Given the description of an element on the screen output the (x, y) to click on. 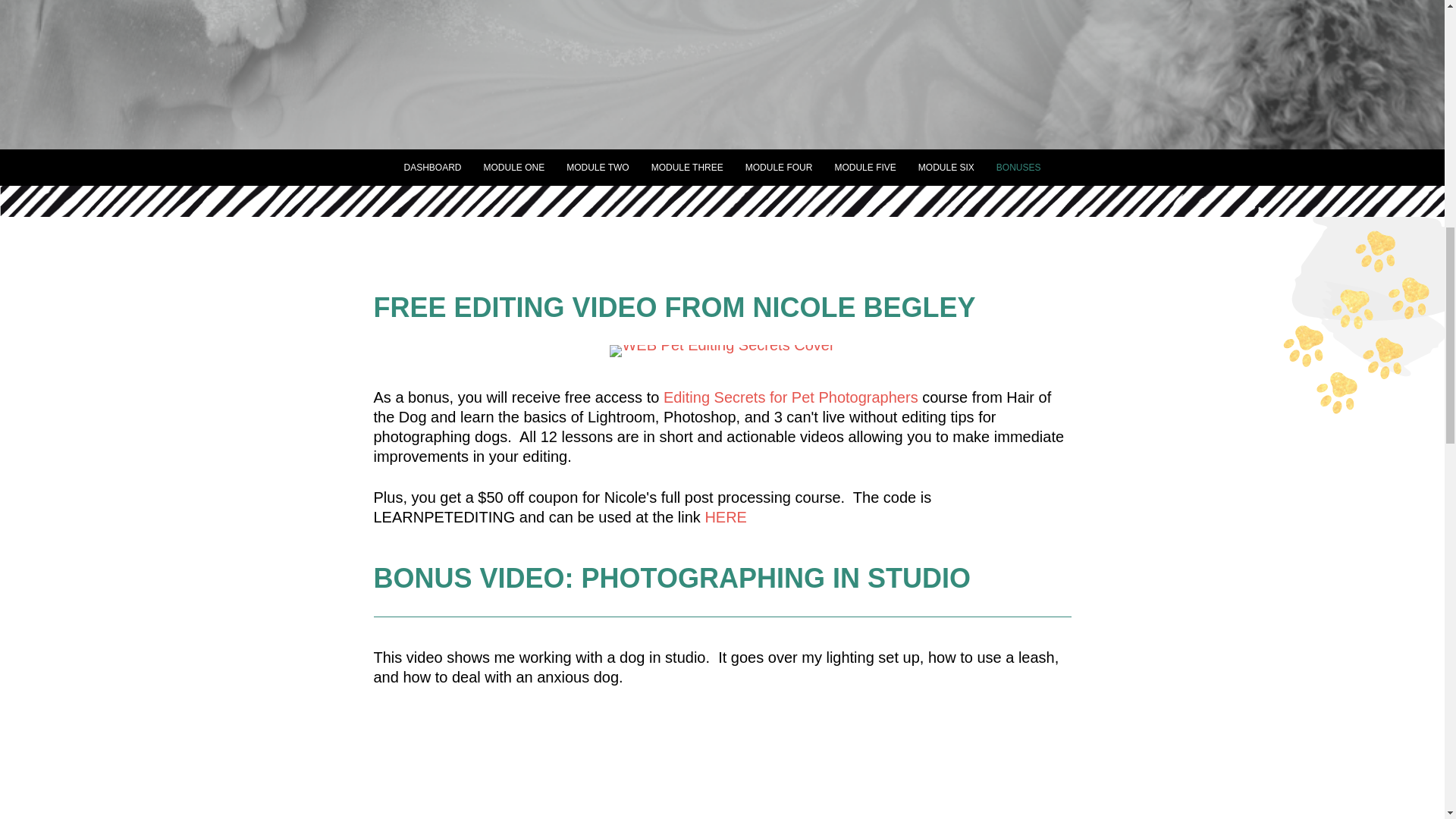
DASHBOARD (432, 167)
MODULE ONE (514, 167)
MODULE THREE (686, 167)
MODULE TWO (597, 167)
WEB Pet Editing Secrets Cover (722, 350)
MODULE FIVE (864, 167)
MODULE FOUR (779, 167)
